Given the description of an element on the screen output the (x, y) to click on. 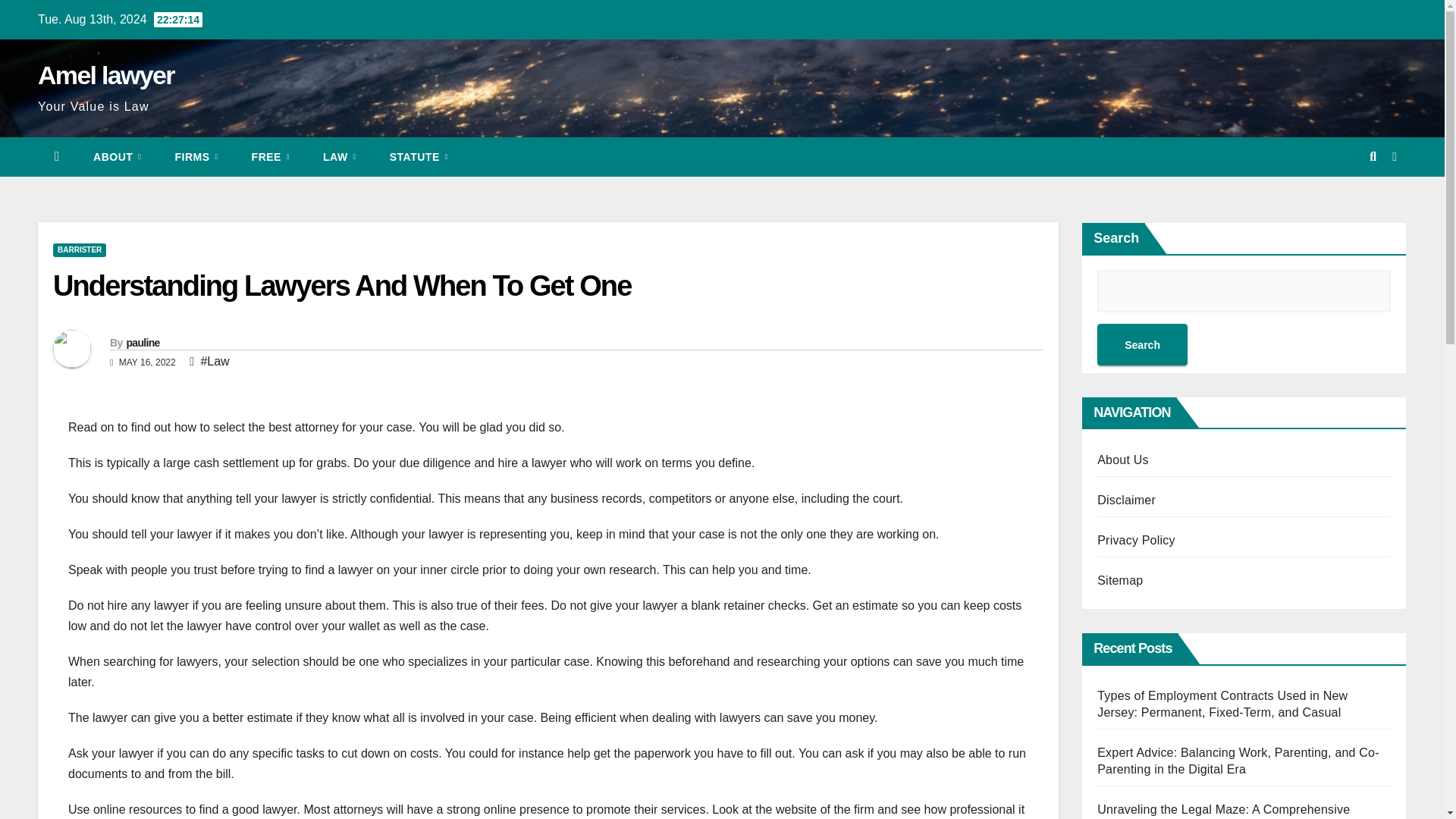
STATUTE (418, 156)
Firms (195, 156)
ABOUT (117, 156)
About (117, 156)
FIRMS (195, 156)
Amel lawyer (105, 74)
LAW (338, 156)
BARRISTER (79, 250)
FREE (269, 156)
Free (269, 156)
